Given the description of an element on the screen output the (x, y) to click on. 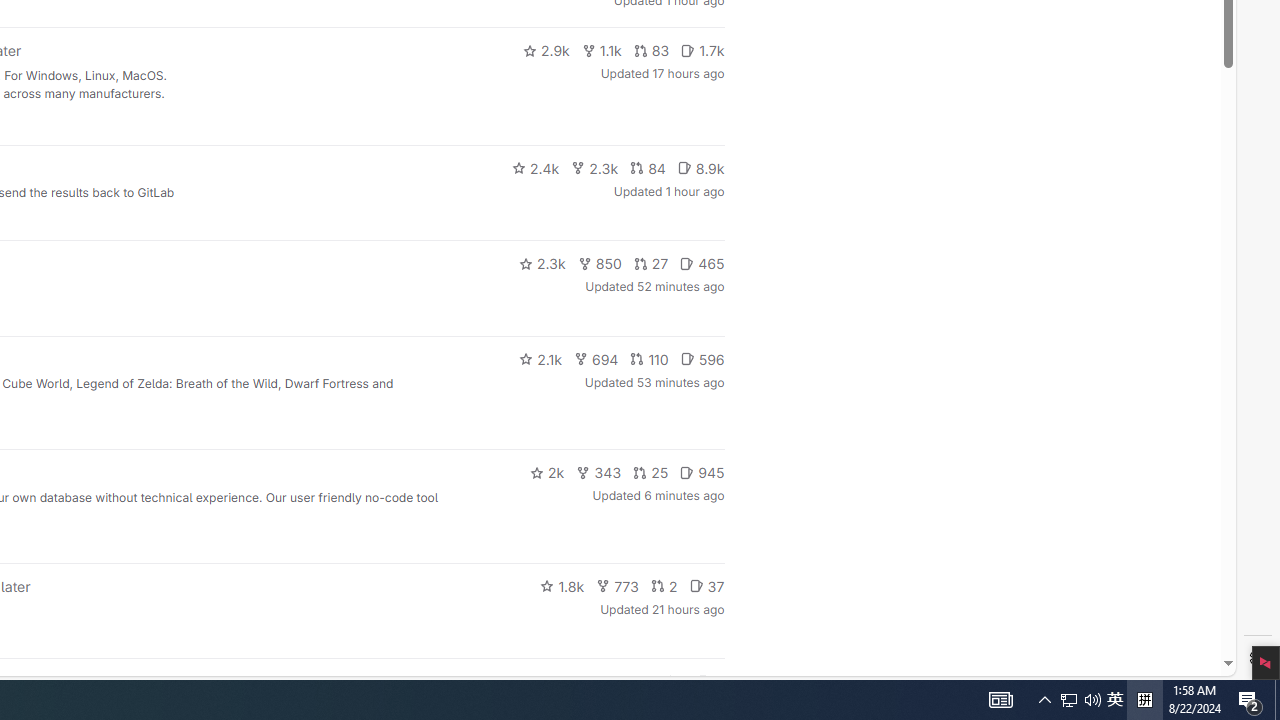
2.9k (545, 50)
945 (701, 472)
2k (546, 472)
84 (647, 167)
8.9k (700, 167)
343 (599, 472)
143 (629, 681)
2.3k (541, 263)
1.8k (562, 585)
773 (618, 585)
27 (651, 263)
1.1k (601, 50)
1 (673, 681)
6 (710, 681)
694 (596, 358)
